Given the description of an element on the screen output the (x, y) to click on. 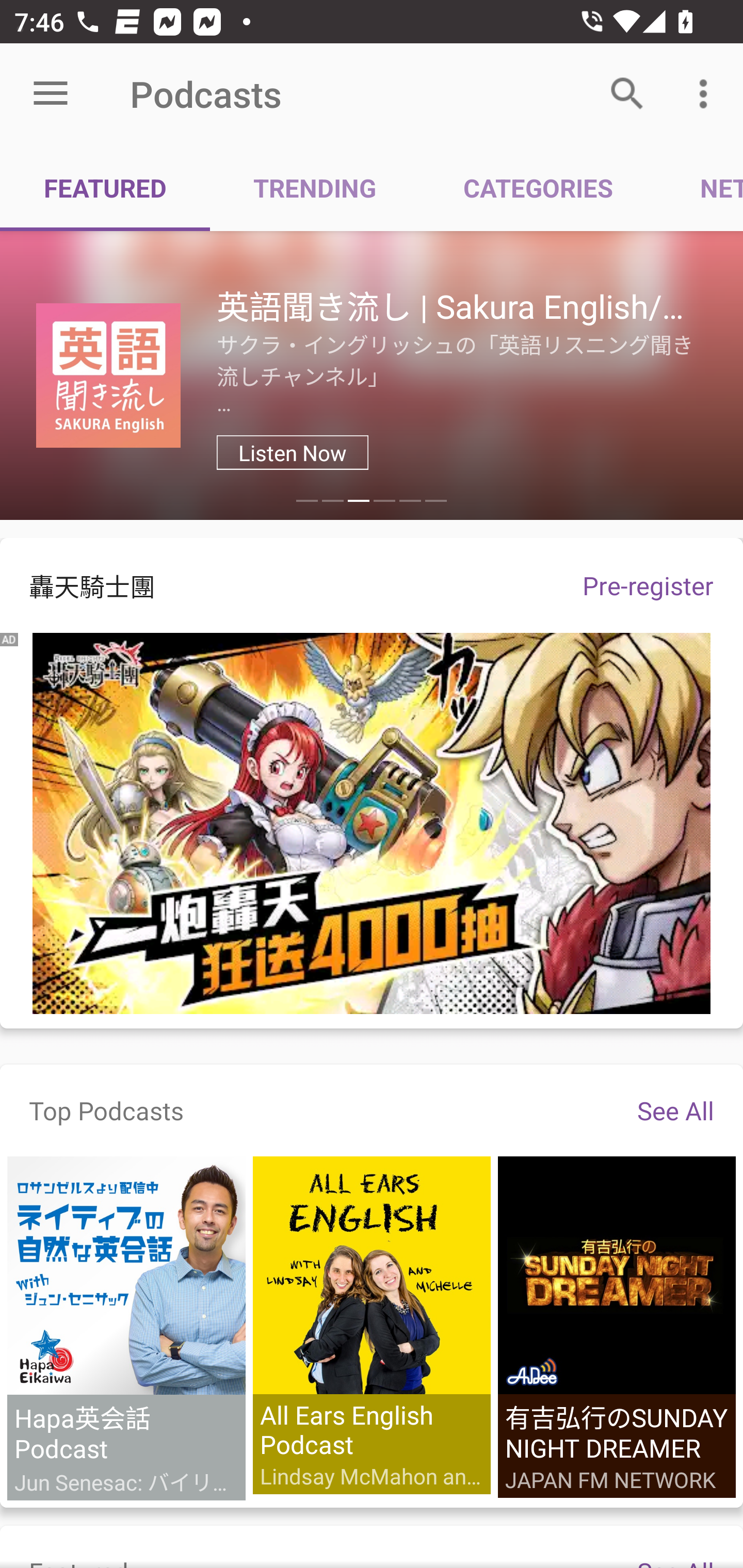
Open menu (50, 93)
Search (626, 93)
More options (706, 93)
FEATURED (105, 187)
TRENDING (314, 187)
CATEGORIES (537, 187)
轟天騎士團 (276, 585)
Pre-register (648, 584)
Top Podcasts (106, 1109)
See All (675, 1109)
有吉弘行のSUNDAY NIGHT DREAMER JAPAN FM NETWORK (616, 1327)
